Given the description of an element on the screen output the (x, y) to click on. 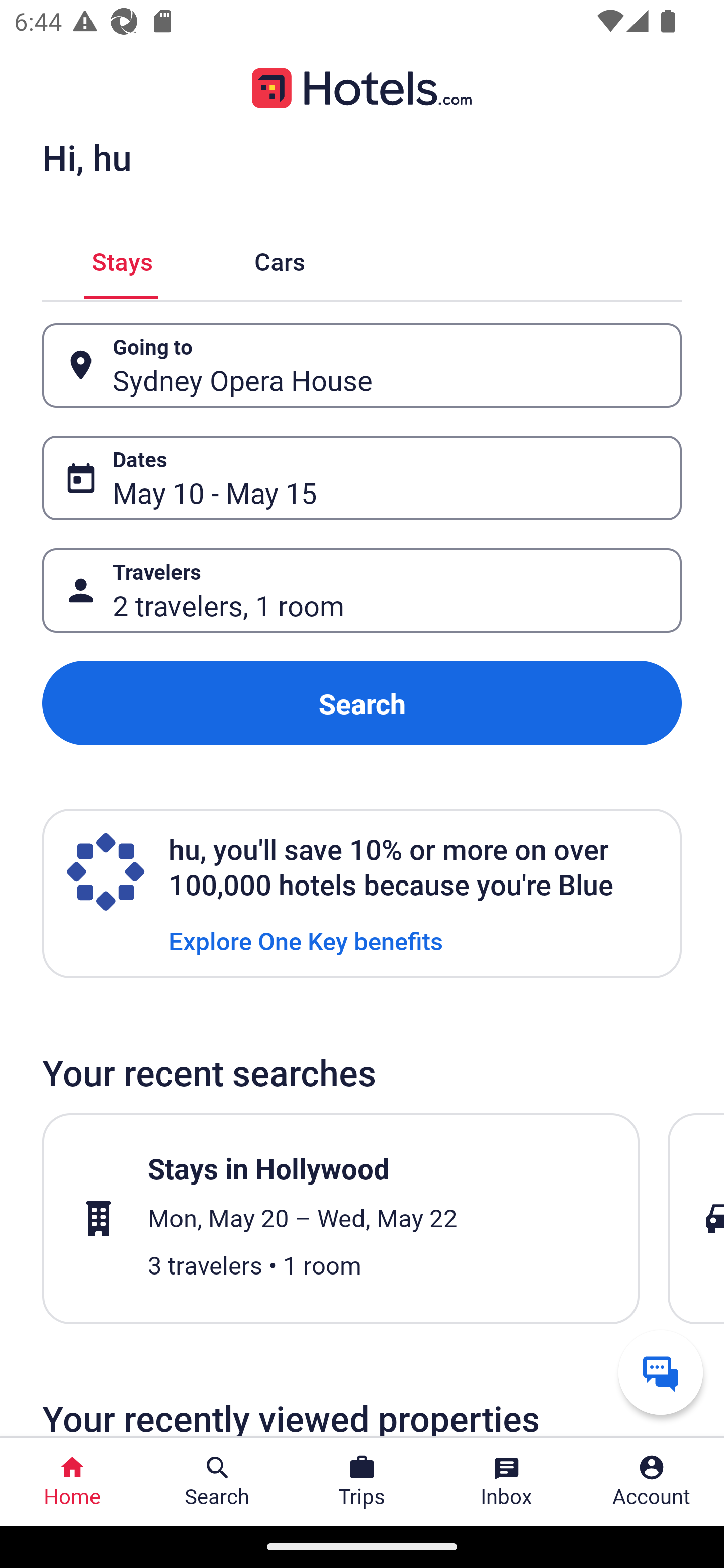
Hi, hu (86, 156)
Cars (279, 259)
Going to Button Sydney Opera House (361, 365)
Dates Button May 10 - May 15 (361, 477)
Travelers Button 2 travelers, 1 room (361, 590)
Search (361, 702)
Get help from a virtual agent (660, 1371)
Search Search Button (216, 1481)
Trips Trips Button (361, 1481)
Inbox Inbox Button (506, 1481)
Account Profile. Button (651, 1481)
